Given the description of an element on the screen output the (x, y) to click on. 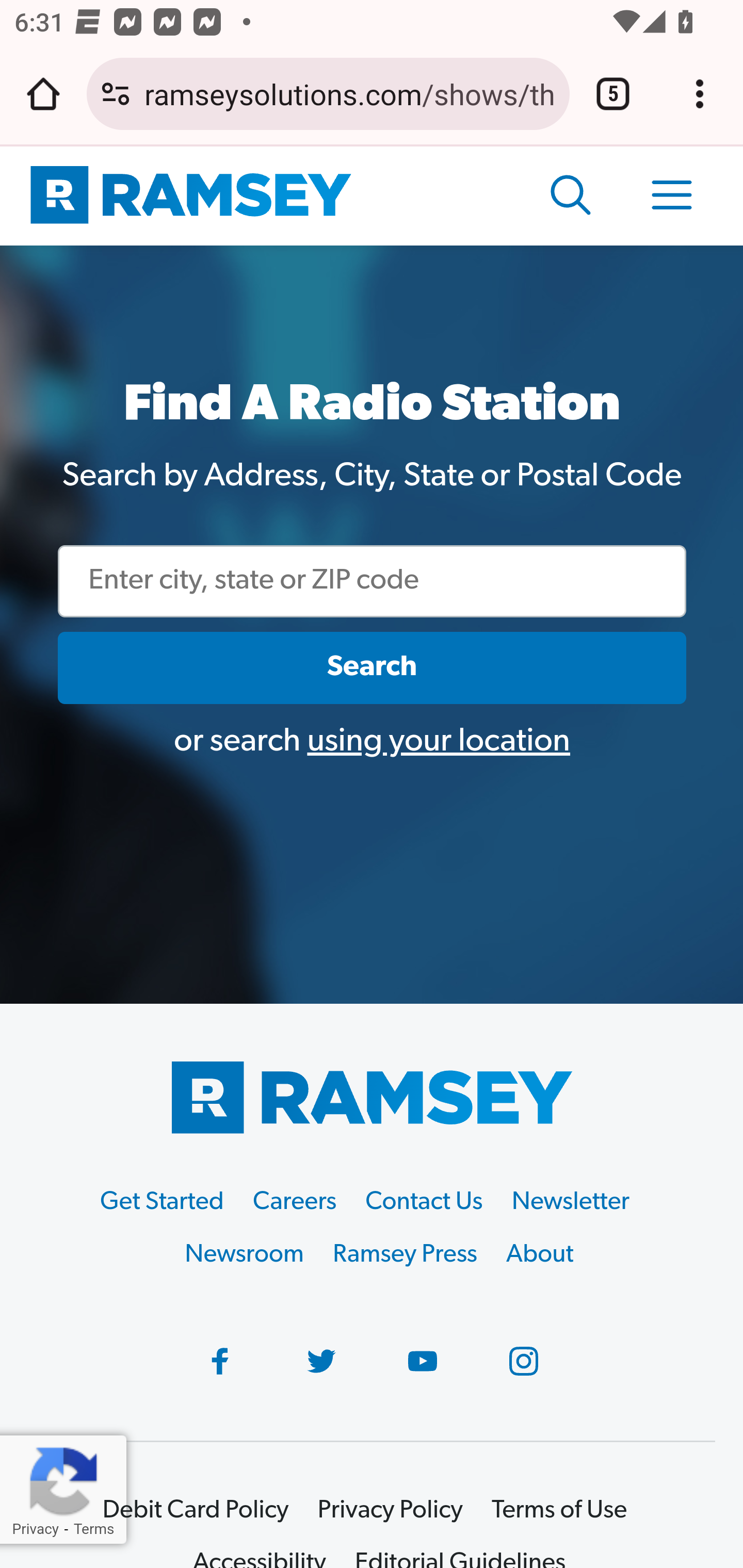
Open the home page (43, 93)
Connection is secure (115, 93)
Switch or close tabs (612, 93)
Customize and control Google Chrome (699, 93)
Menu (672, 195)
Ramsey Solutions (190, 195)
Search (372, 667)
using your location (438, 742)
Ramsey Solutions (371, 1098)
Get Started (161, 1203)
Careers (294, 1203)
Contact Us (423, 1203)
Newsletter (570, 1203)
Newsroom (244, 1254)
Ramsey Press (405, 1254)
About (539, 1254)
Facebook (220, 1361)
Twitter (321, 1361)
YouTube (422, 1361)
Instagram (523, 1361)
Privacy Policy (389, 1511)
Terms of Use (559, 1511)
Privacy (34, 1528)
Terms (93, 1528)
